Given the description of an element on the screen output the (x, y) to click on. 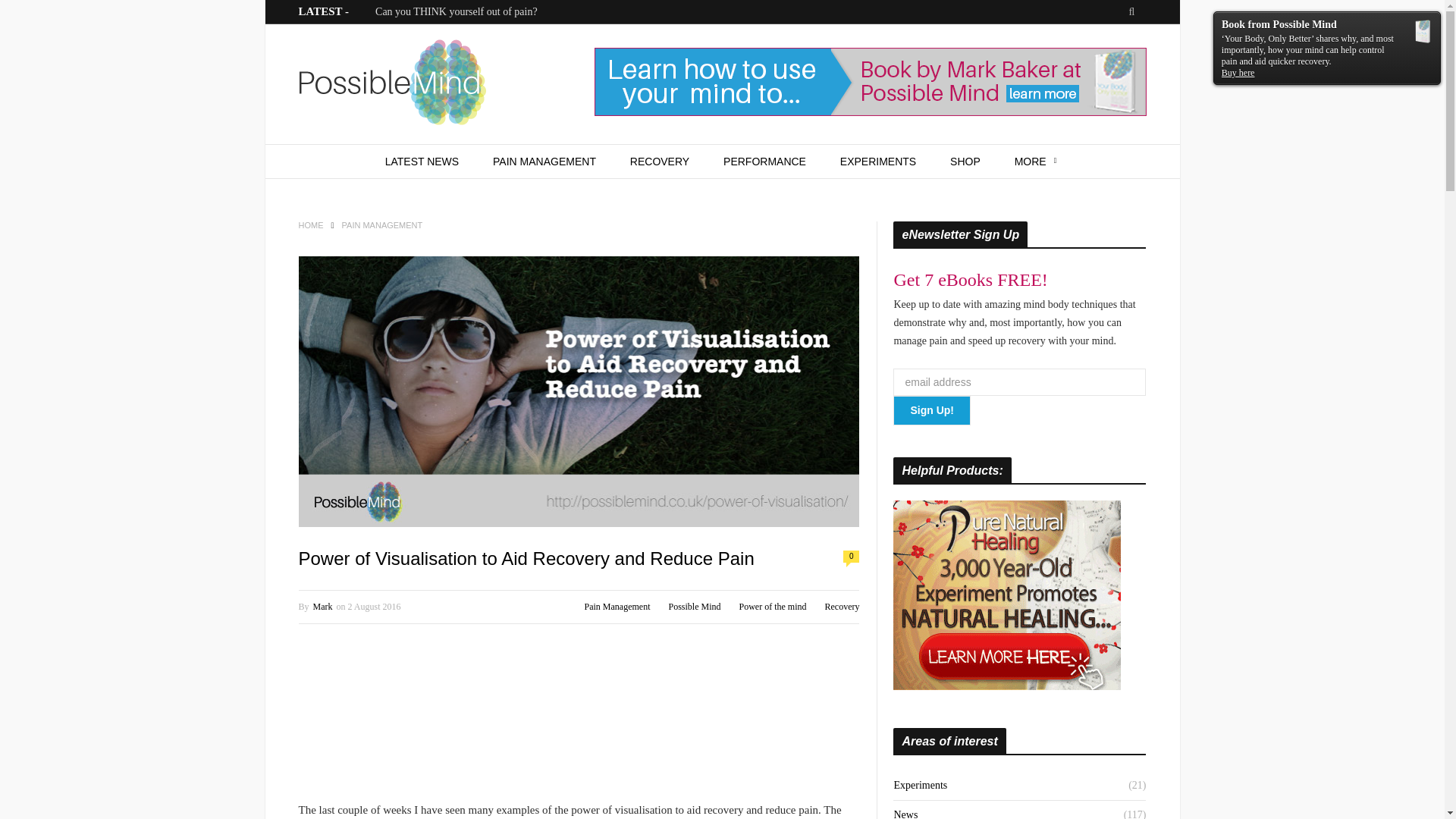
RECOVERY (659, 161)
PAIN MANAGEMENT (382, 225)
MORE (1035, 161)
HOME (310, 225)
PAIN MANAGEMENT (544, 161)
EXPERIMENTS (878, 161)
Recovery (842, 606)
Can you THINK yourself out of pain? (456, 11)
Power of the mind (772, 606)
The Possible Mind (392, 84)
Posts by Mark (323, 606)
SHOP (965, 161)
Pain Management (616, 606)
Mark (323, 606)
